Given the description of an element on the screen output the (x, y) to click on. 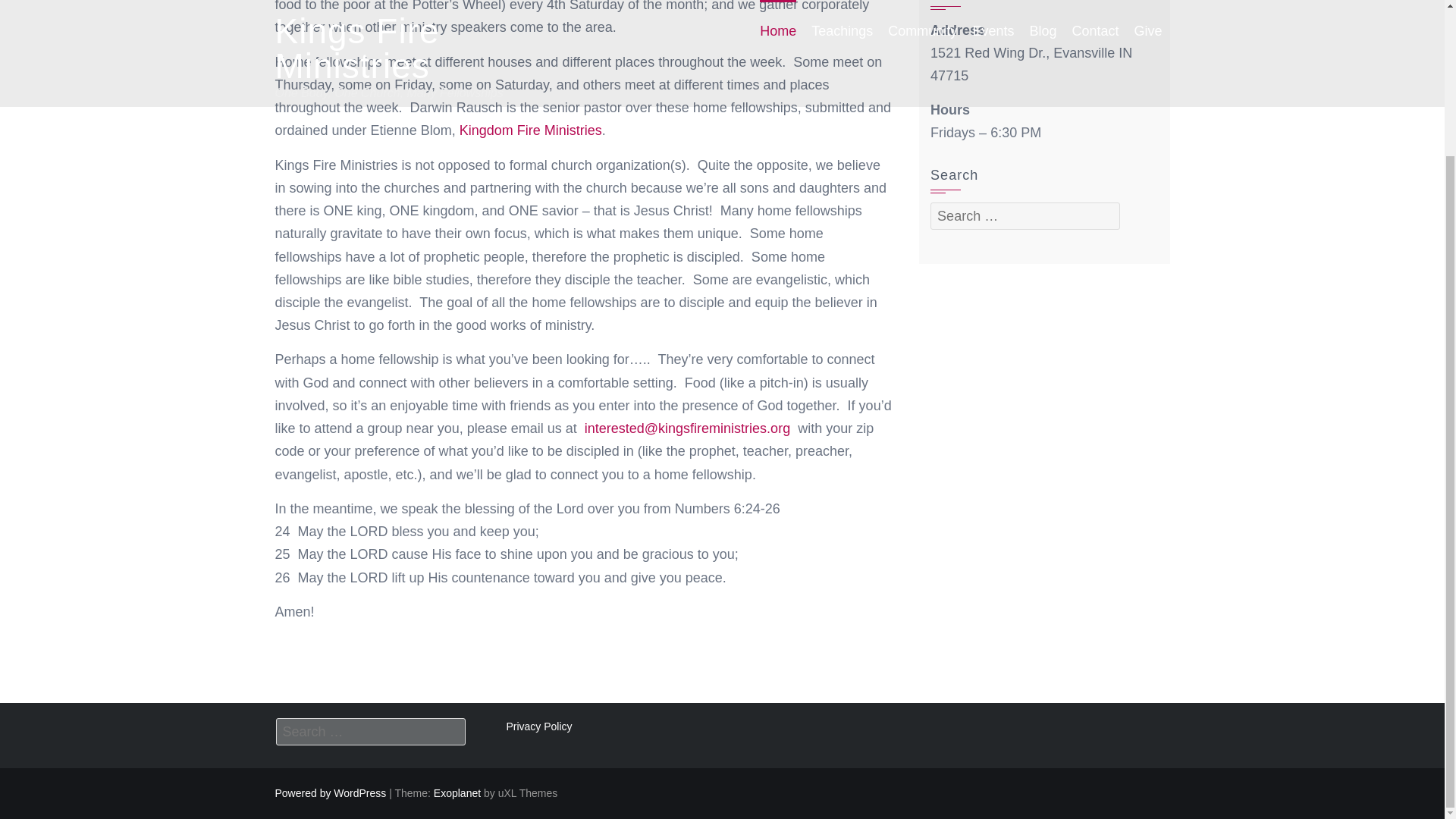
Privacy Policy (538, 726)
Powered by WordPress (330, 793)
Kingdom Fire Ministries (531, 130)
Search (818, 134)
Exoplanet (456, 793)
